Given the description of an element on the screen output the (x, y) to click on. 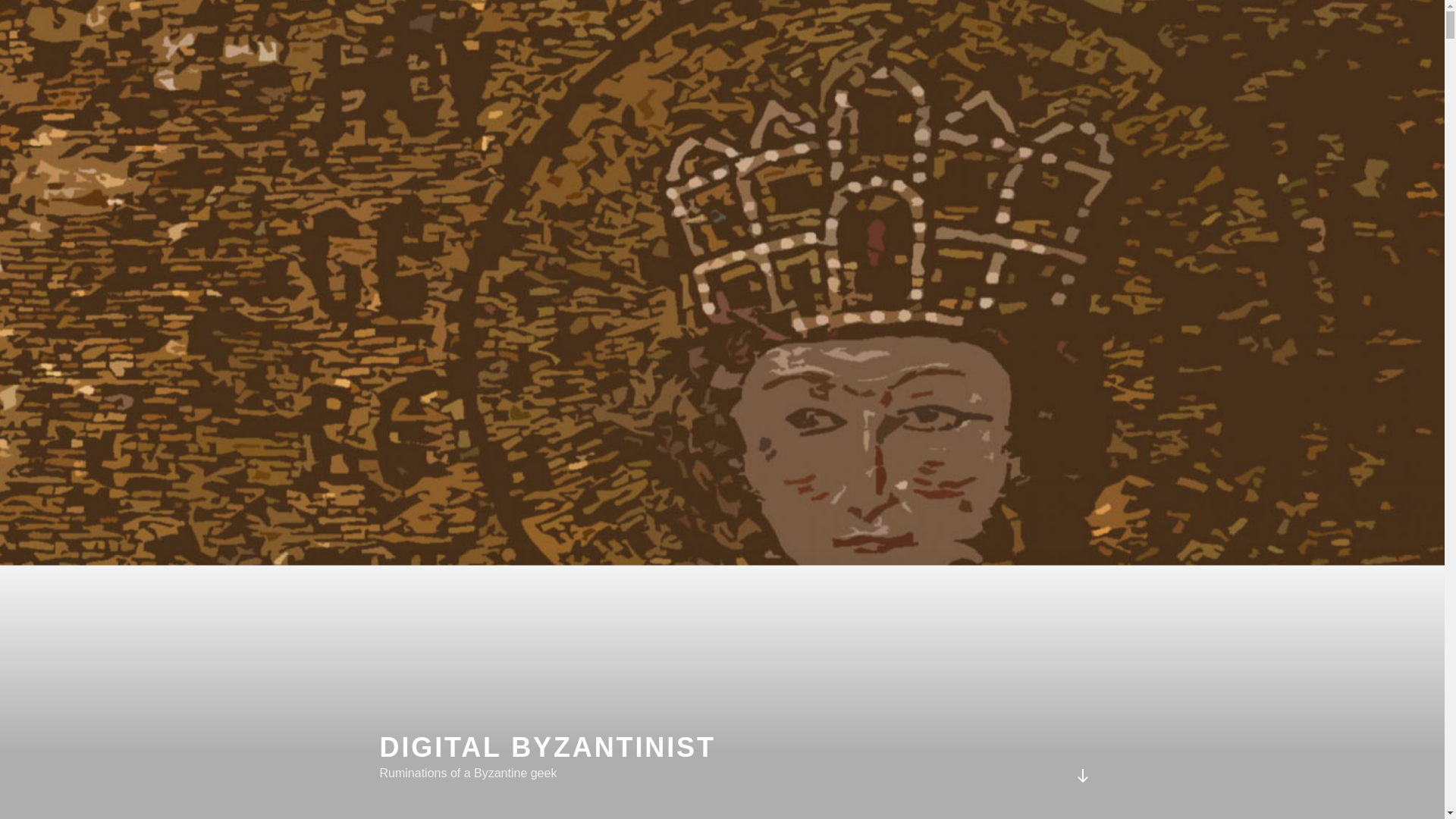
DIGITAL BYZANTINIST (546, 747)
Scroll down to content (1081, 775)
Scroll down to content (1081, 775)
